Given the description of an element on the screen output the (x, y) to click on. 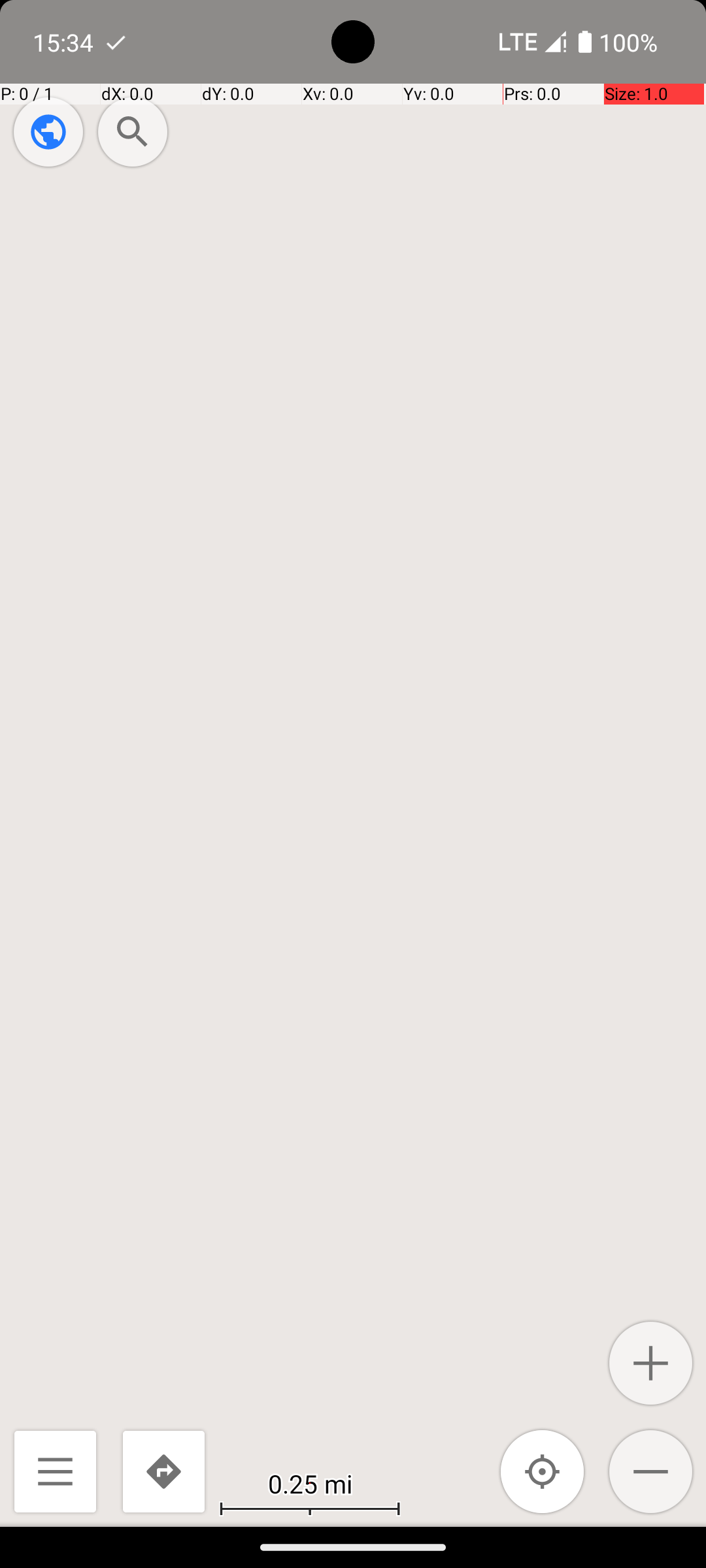
0.25 mi Element type: android.widget.TextView (309, 1483)
